Given the description of an element on the screen output the (x, y) to click on. 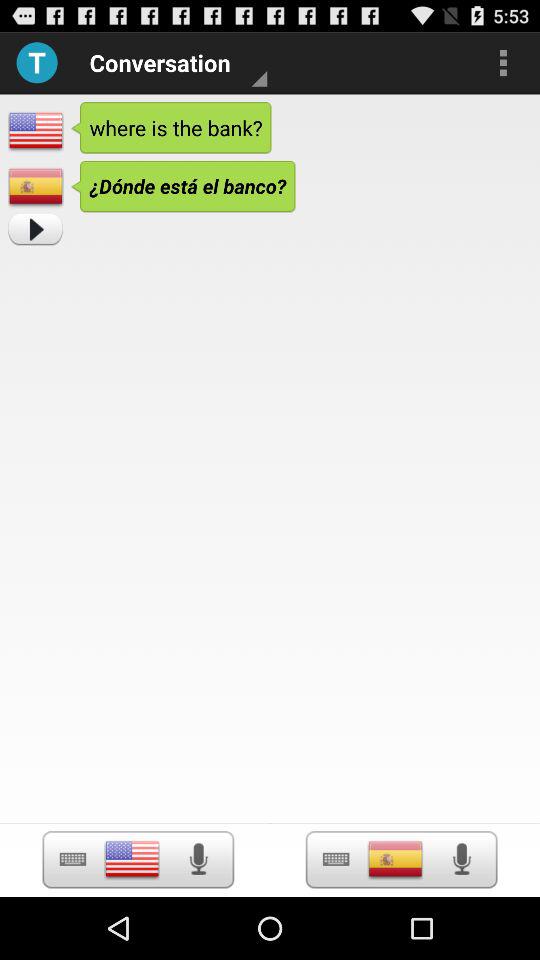
allows to enter phrase in english (131, 859)
